Given the description of an element on the screen output the (x, y) to click on. 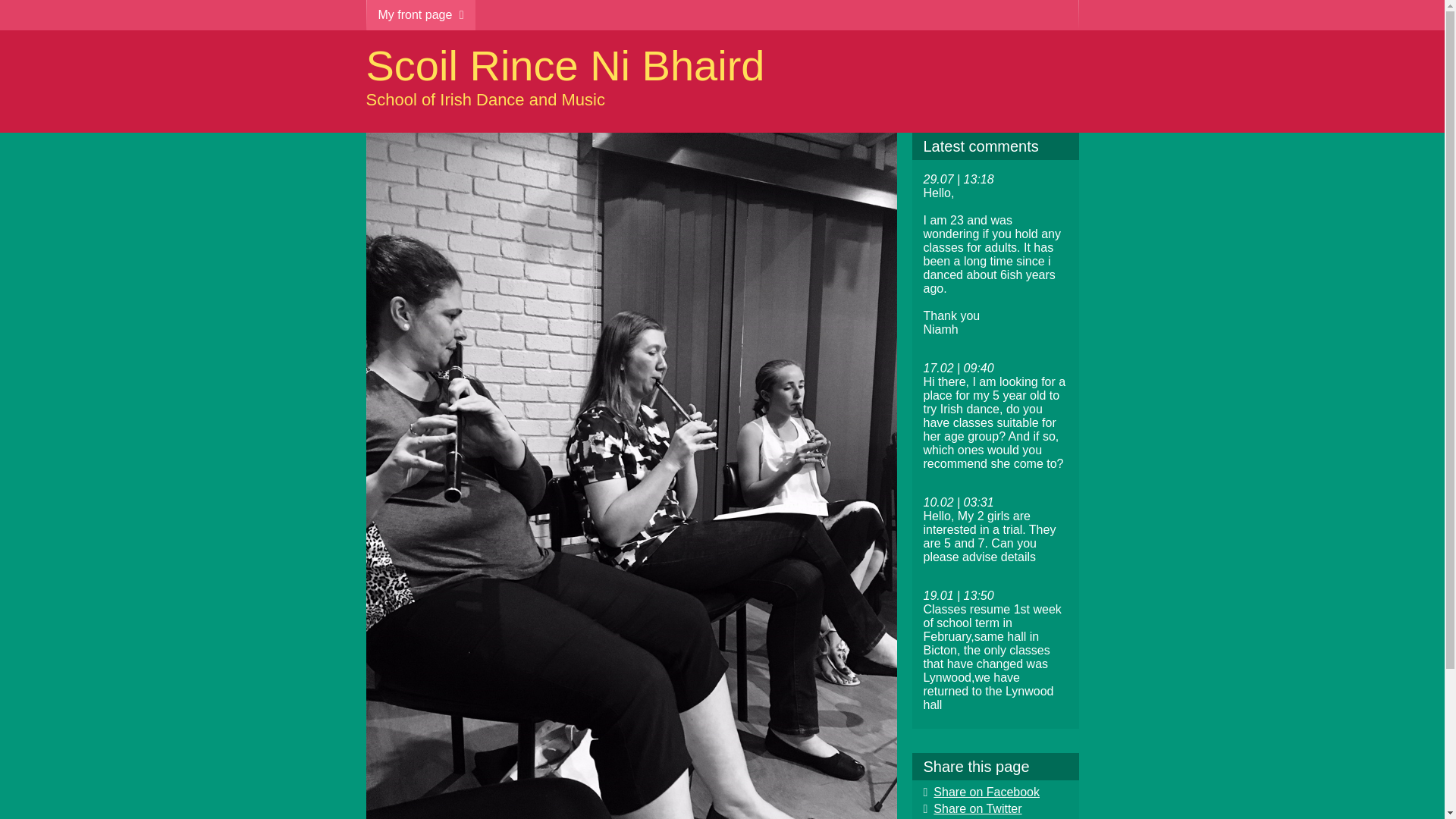
Scoil Rince Ni Bhaird (564, 65)
My front page (411, 15)
Share on Facebook (982, 791)
Share on Twitter (972, 808)
